Given the description of an element on the screen output the (x, y) to click on. 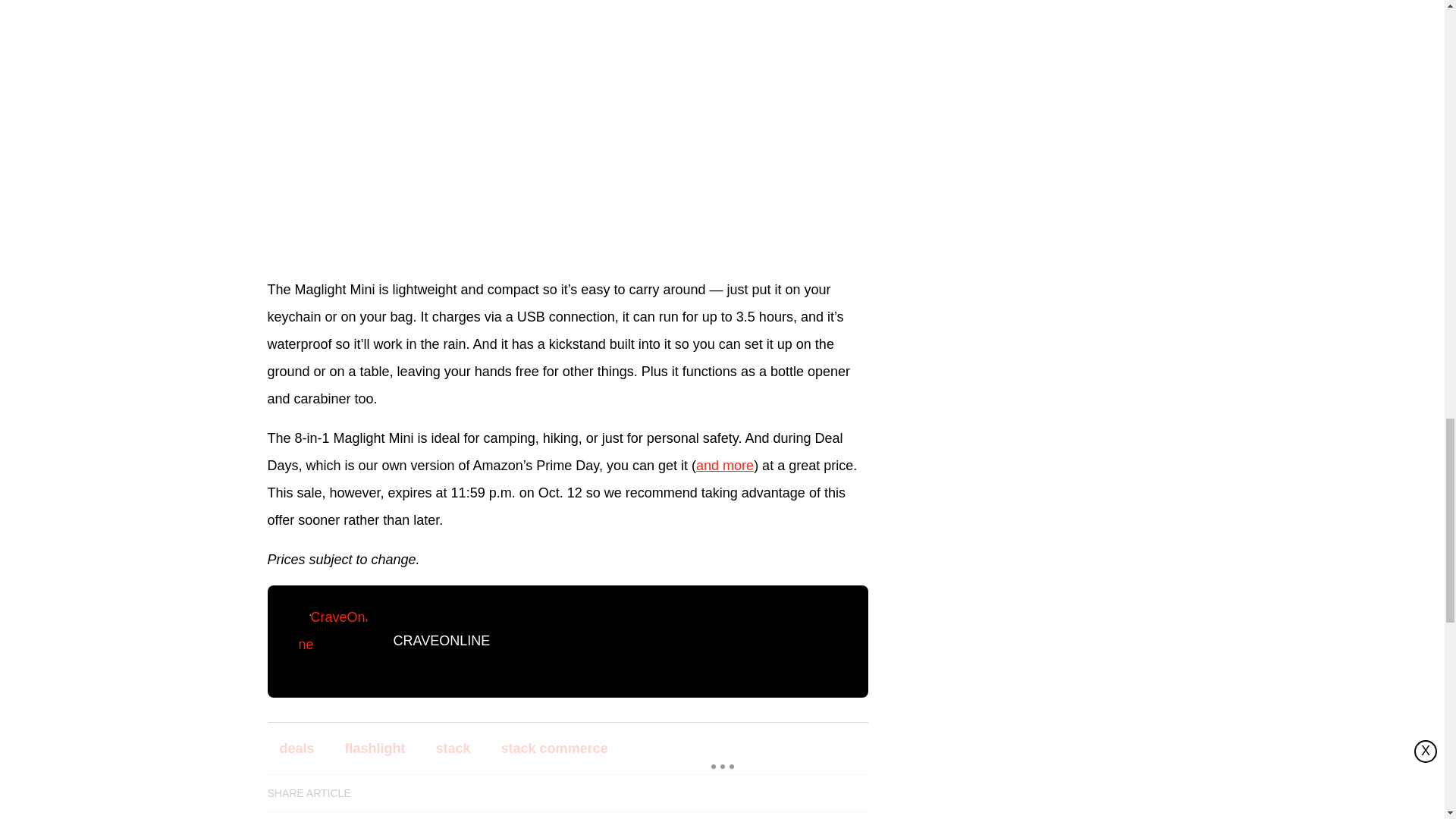
and more (724, 465)
deals (296, 748)
Pinterest (505, 793)
stack (453, 748)
Twitter (463, 793)
flashlight (375, 748)
Facebook (377, 793)
stack commerce (554, 748)
CRAVEONLINE (441, 640)
